Given the description of an element on the screen output the (x, y) to click on. 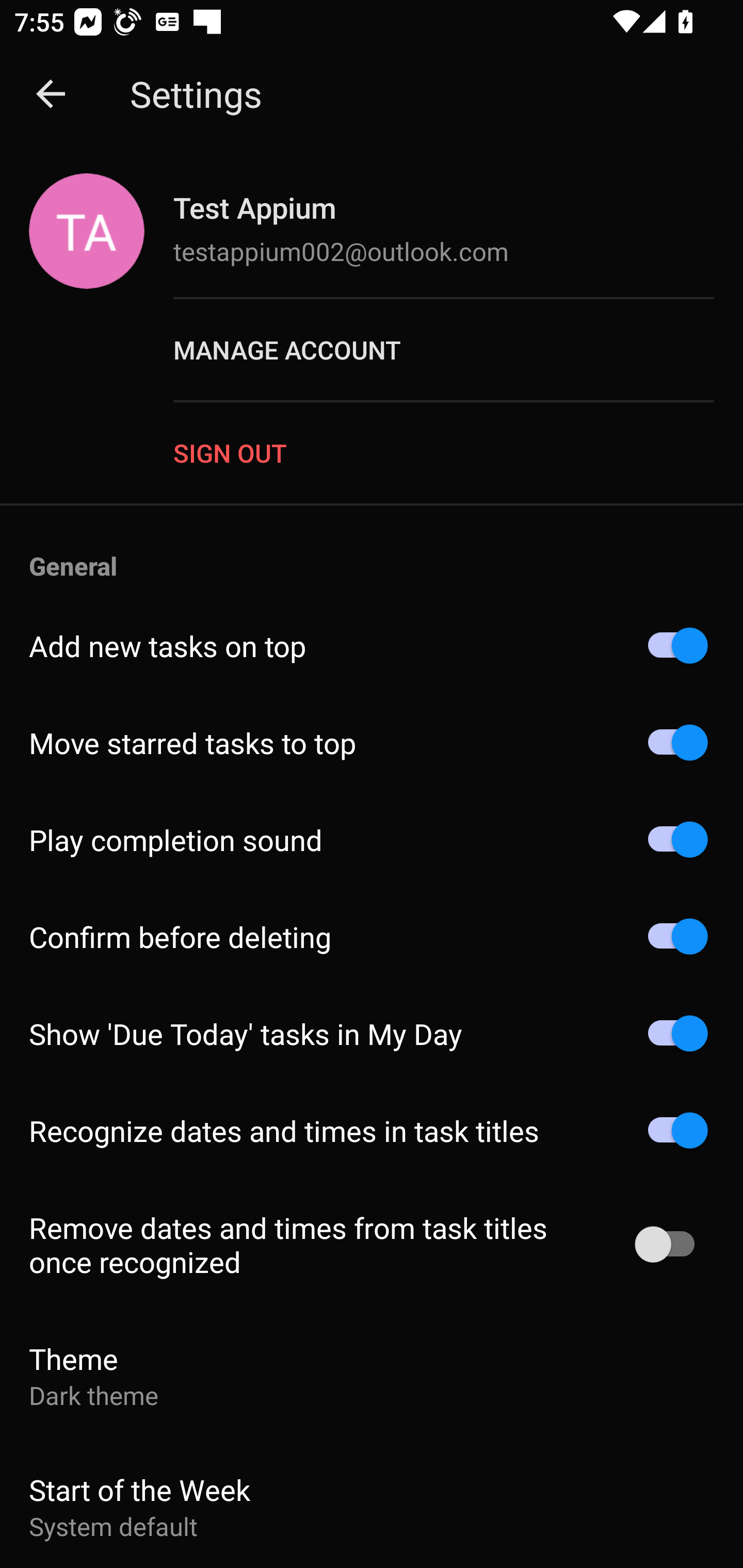
Navigate up (50, 93)
MANAGE ACCOUNT (458, 349)
SIGN OUT (458, 452)
Add new tasks on top (371, 645)
Move starred tasks to top (371, 742)
Play completion sound (371, 839)
Confirm before deleting (371, 935)
Show 'Due Today' tasks in My Day (371, 1032)
Recognize dates and times in task titles (371, 1130)
Theme Dark theme (371, 1375)
Start of the Week System default (371, 1504)
